Given the description of an element on the screen output the (x, y) to click on. 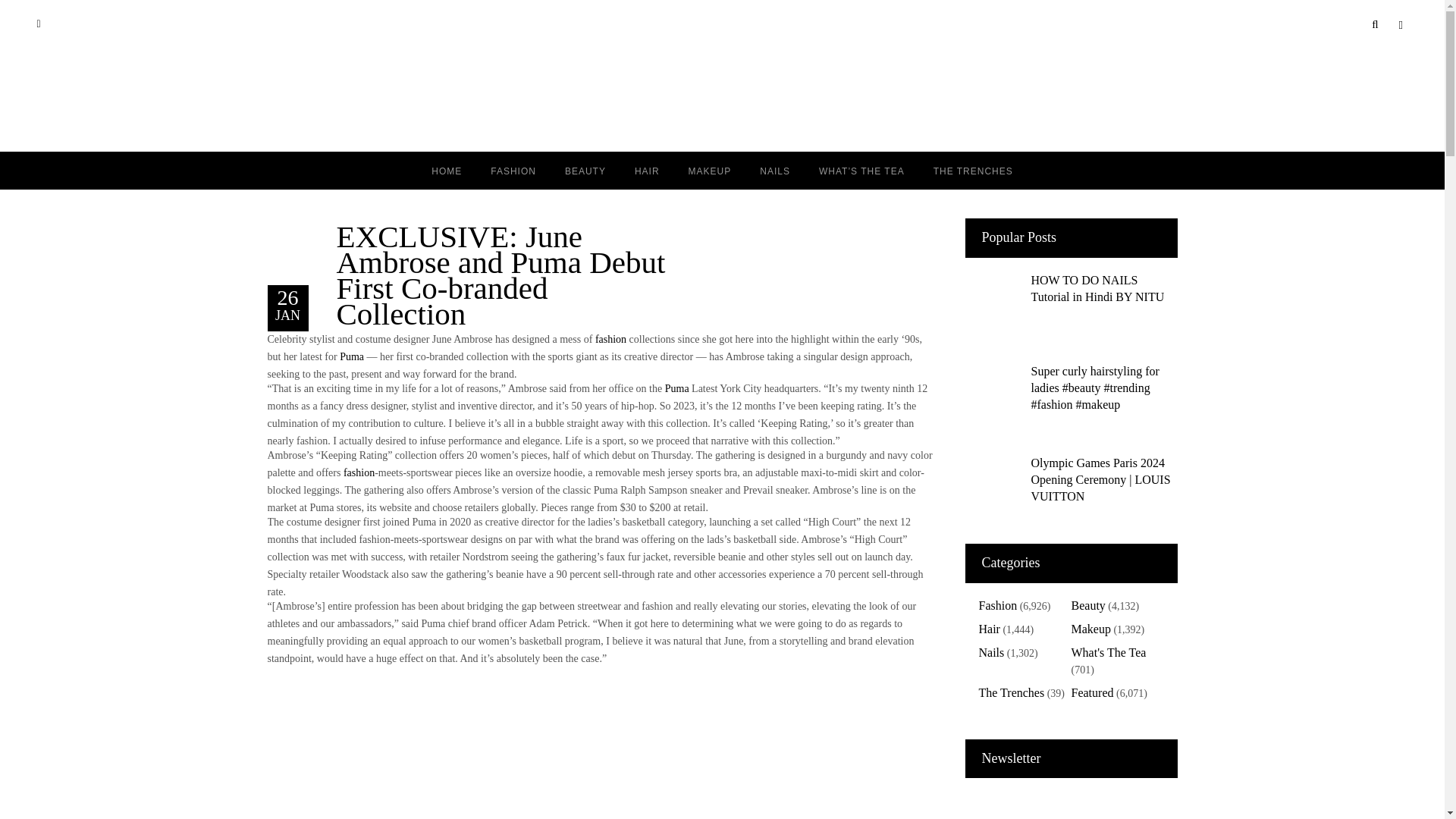
BEAUTY (585, 170)
fashion (610, 338)
FASHION (513, 170)
HOME (446, 170)
HAIR (647, 170)
fashion (358, 472)
NAILS (775, 170)
THE TRENCHES (972, 170)
Puma (676, 388)
Puma (351, 356)
MAKEUP (709, 170)
